Given the description of an element on the screen output the (x, y) to click on. 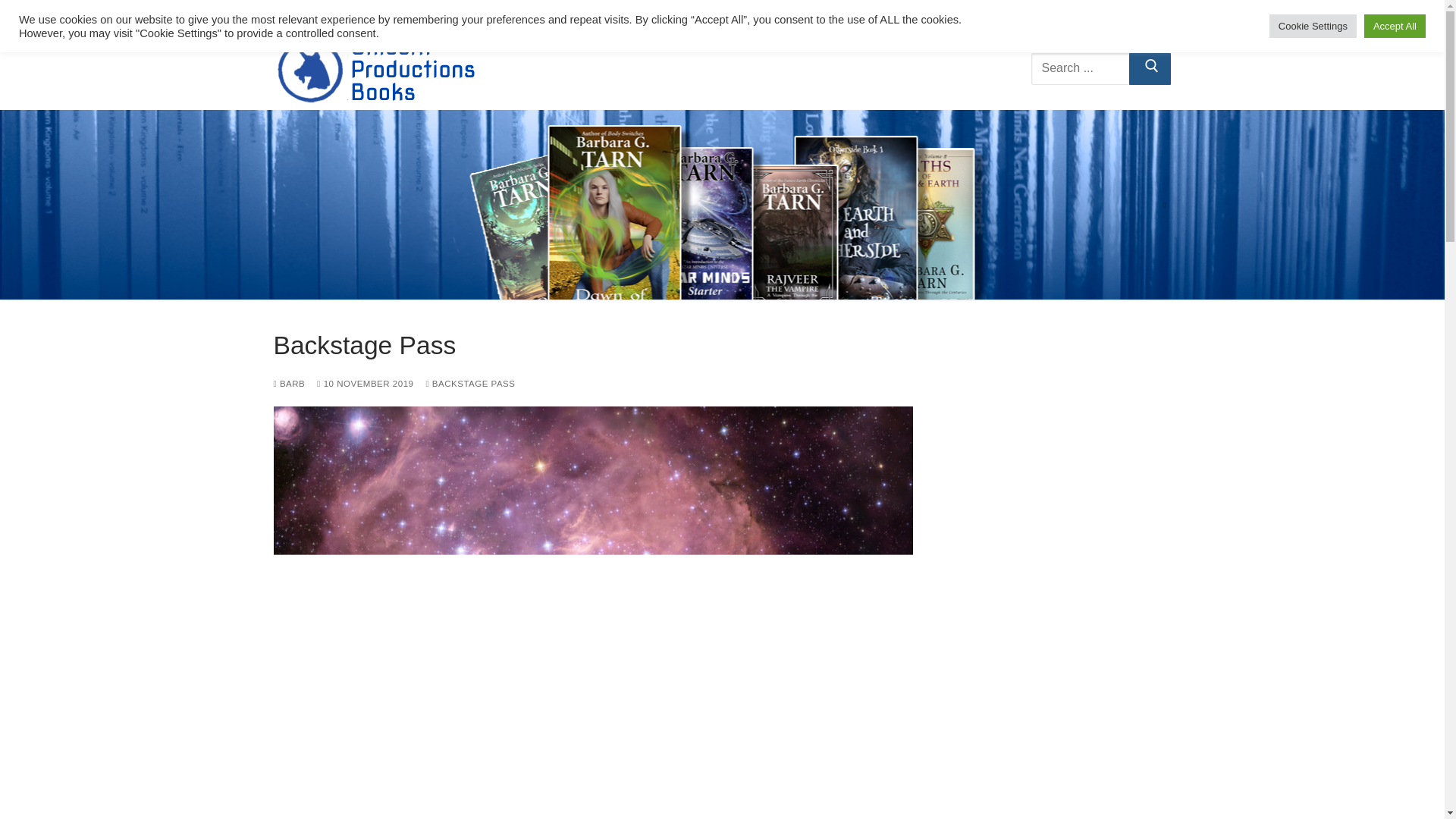
Facebook (1163, 205)
HOME PAGE (1127, 14)
Search for: (842, 14)
BARB (443, 14)
BACKSTAGE PASS (1095, 68)
10 NOVEMBER 2019 (288, 383)
BOOKS (740, 14)
ABOUT (470, 383)
BLOG AND NEWS (365, 383)
